Given the description of an element on the screen output the (x, y) to click on. 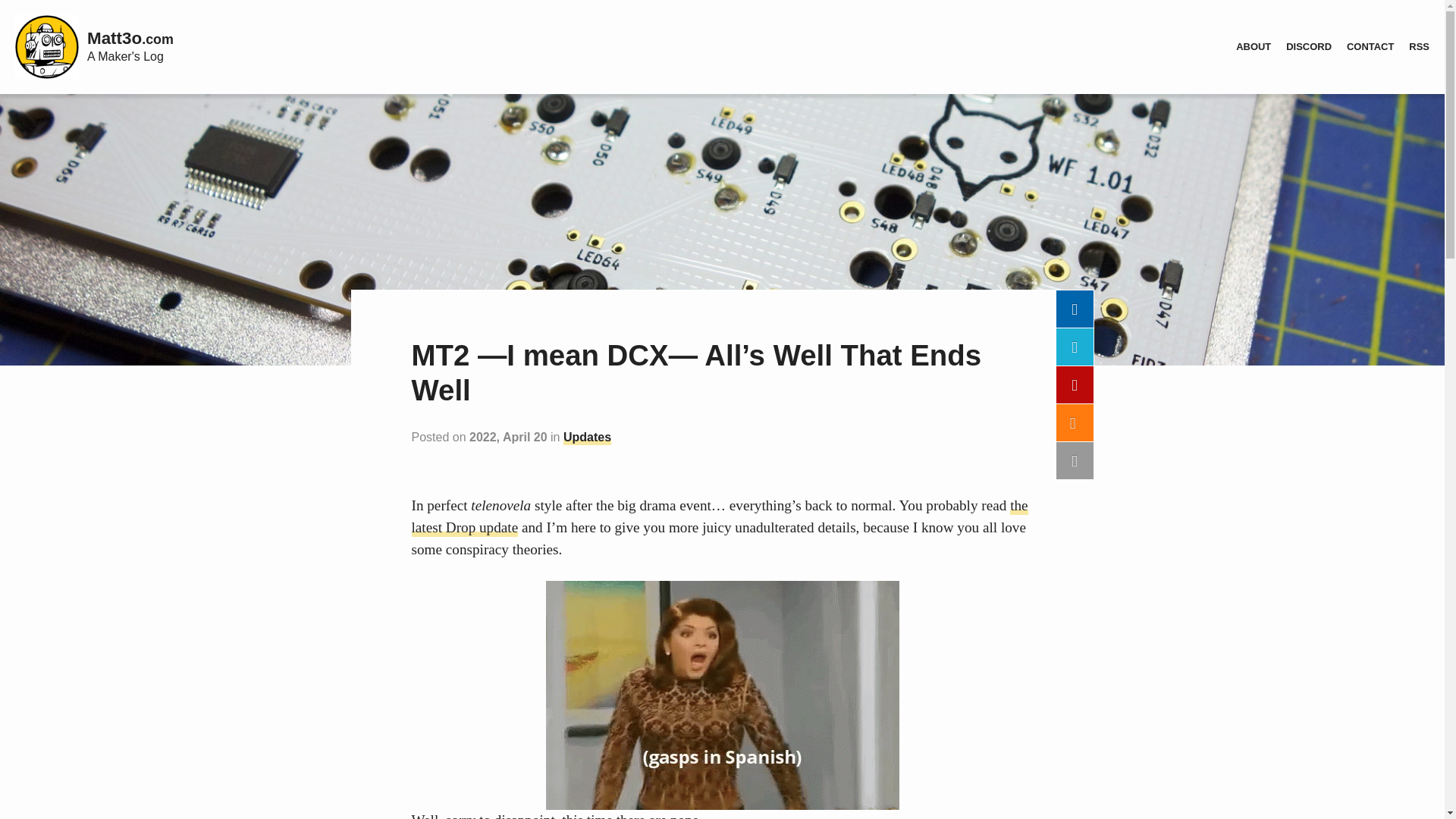
Updates (587, 437)
RSS (1418, 46)
Matt3o.com (130, 37)
DISCORD (1308, 46)
the latest Drop update (718, 517)
ABOUT (1253, 46)
A Maker's Log (125, 56)
CONTACT (1369, 46)
